Given the description of an element on the screen output the (x, y) to click on. 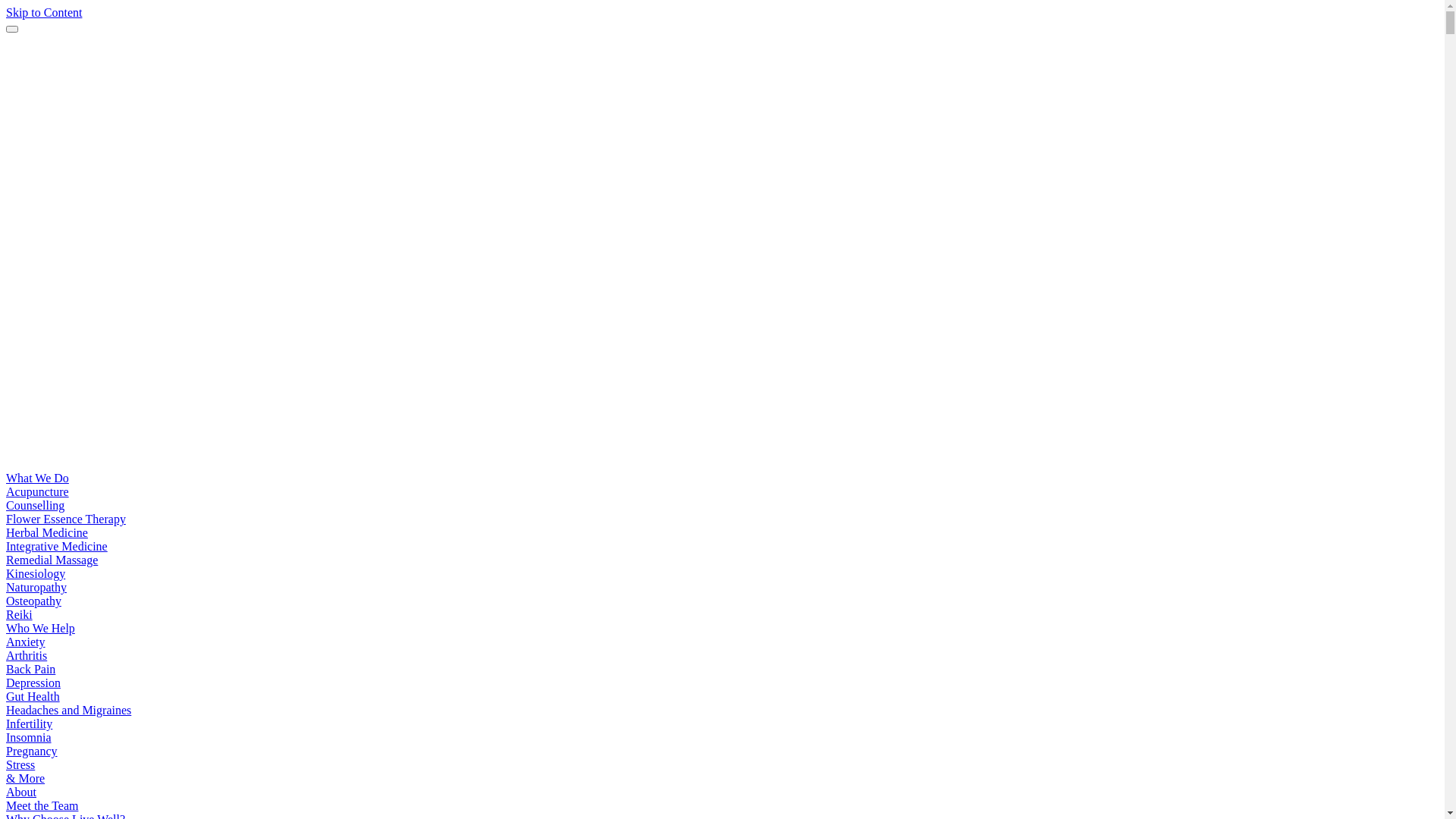
Flower Essence Therapy Element type: text (65, 518)
Osteopathy Element type: text (33, 600)
Skip to Content Element type: text (43, 12)
Depression Element type: text (33, 682)
Stress Element type: text (20, 764)
Pregnancy Element type: text (31, 750)
Integrative Medicine Element type: text (56, 545)
Kinesiology Element type: text (35, 573)
What We Do Element type: text (37, 477)
& More Element type: text (25, 777)
About Element type: text (21, 791)
Headaches and Migraines Element type: text (68, 709)
Insomnia Element type: text (28, 737)
Arthritis Element type: text (26, 655)
Naturopathy Element type: text (36, 586)
Anxiety Element type: text (25, 641)
Reiki Element type: text (19, 614)
Counselling Element type: text (35, 504)
Herbal Medicine Element type: text (46, 532)
Meet the Team Element type: text (42, 805)
Gut Health Element type: text (32, 696)
Acupuncture Element type: text (37, 491)
Remedial Massage Element type: text (51, 559)
Who We Help Element type: text (40, 627)
Infertility Element type: text (29, 723)
Back Pain Element type: text (30, 668)
